Given the description of an element on the screen output the (x, y) to click on. 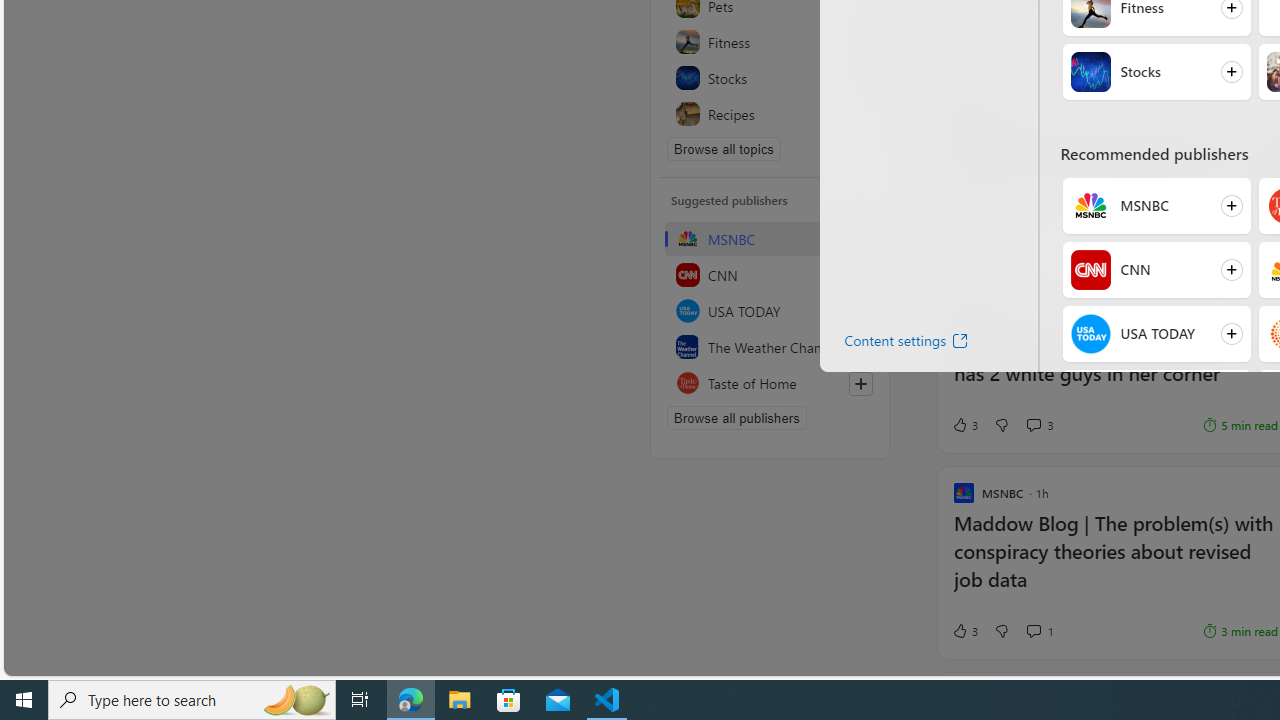
Follow this source (860, 384)
Start the conversation (1033, 246)
MSNBC (1090, 205)
Follow The Weather Channel (1156, 398)
Content settings (890, 344)
Follow this topic (860, 114)
Stocks (770, 78)
CNN (770, 274)
